Given the description of an element on the screen output the (x, y) to click on. 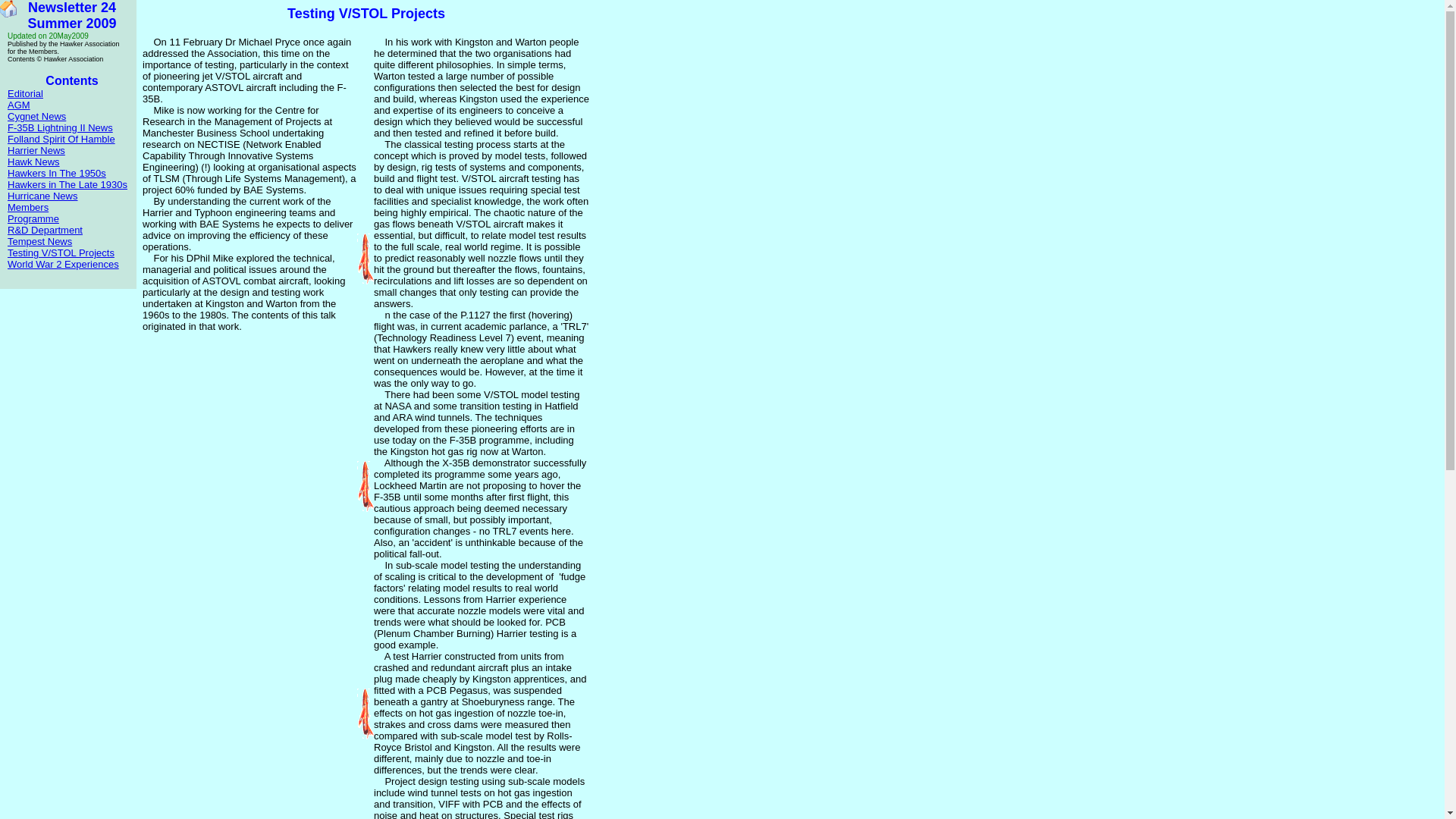
World War 2 Experiences (63, 264)
Home (8, 8)
Members (27, 206)
F-35B Lightning II News (60, 127)
Hawkers In The 1950s (56, 173)
Programme (33, 218)
AGM (18, 104)
Editorial (25, 93)
Folland Spirit Of Hamble (61, 138)
Summer 2009 (71, 31)
Tempest News (39, 241)
Hawk News (33, 161)
Cygnet News (36, 116)
Harrier News (36, 150)
Hawkers in The Late 1930s (67, 184)
